Given the description of an element on the screen output the (x, y) to click on. 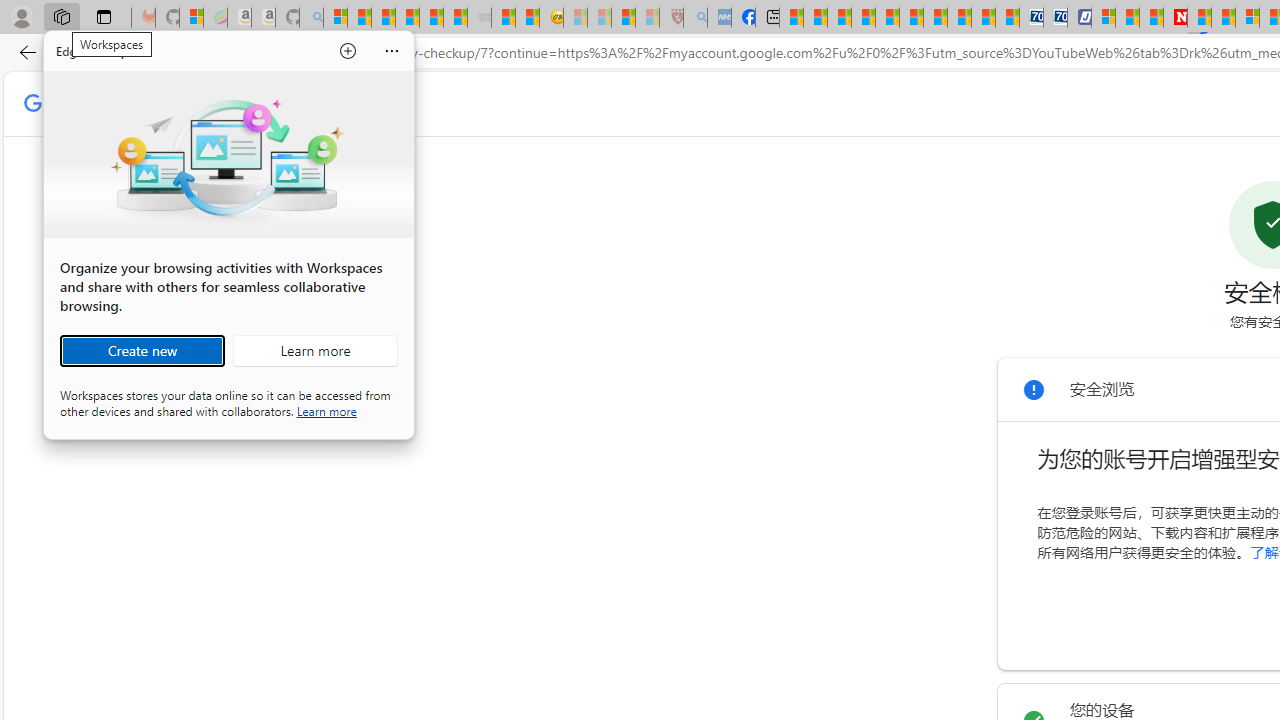
14 Common Myths Debunked By Scientific Facts (1223, 17)
Create new workspace (142, 350)
Science - MSN (622, 17)
Climate Damage Becomes Too Severe To Reverse (863, 17)
Trusted Community Engagement and Contributions | Guidelines (1198, 17)
